Given the description of an element on the screen output the (x, y) to click on. 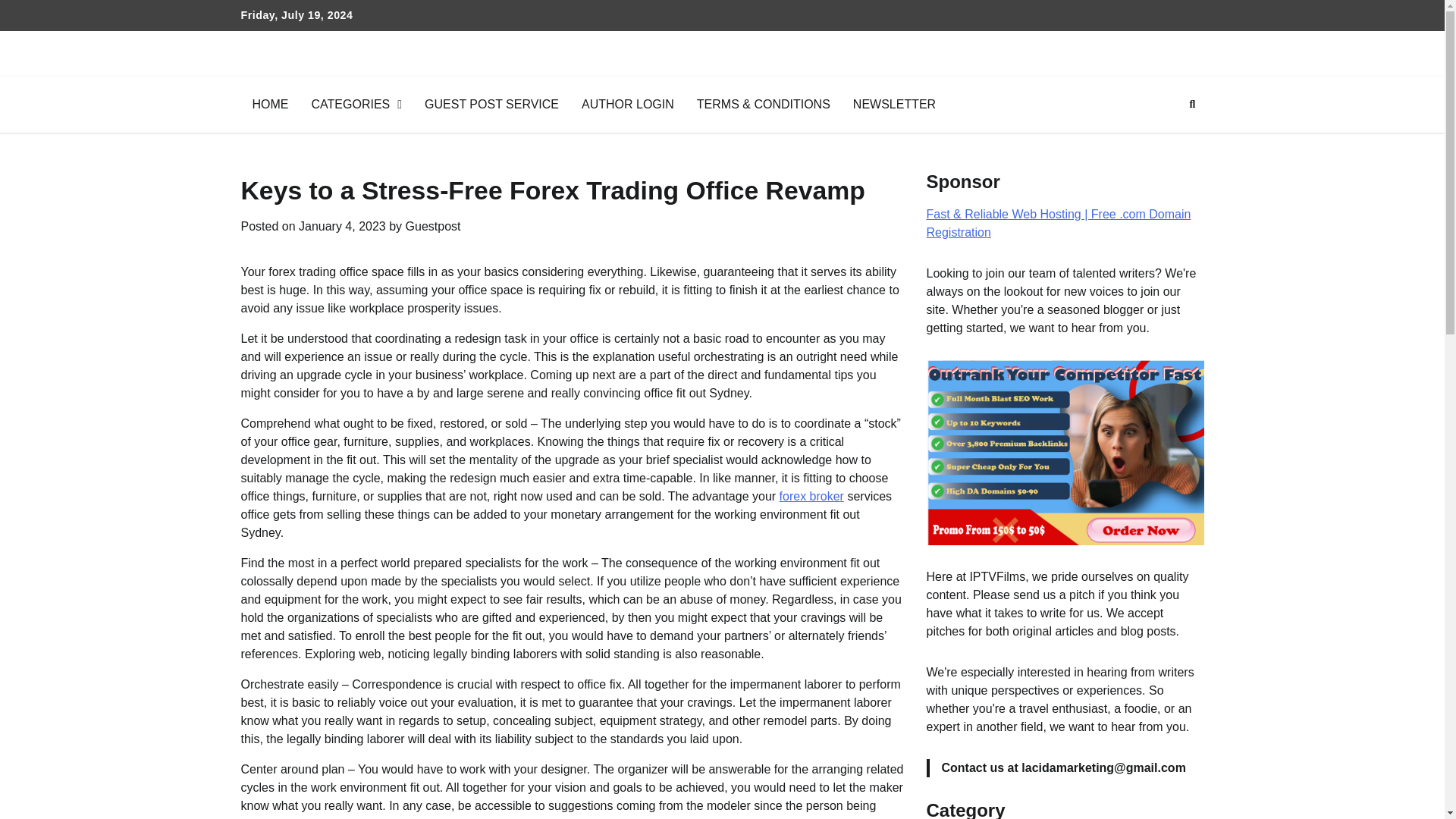
Guestpost (433, 226)
January 4, 2023 (341, 226)
Search (1164, 139)
forex broker (811, 495)
Search (1192, 104)
CATEGORIES (356, 104)
HOME (270, 104)
AUTHOR LOGIN (627, 104)
NEWSLETTER (894, 104)
GUEST POST SERVICE (491, 104)
